Given the description of an element on the screen output the (x, y) to click on. 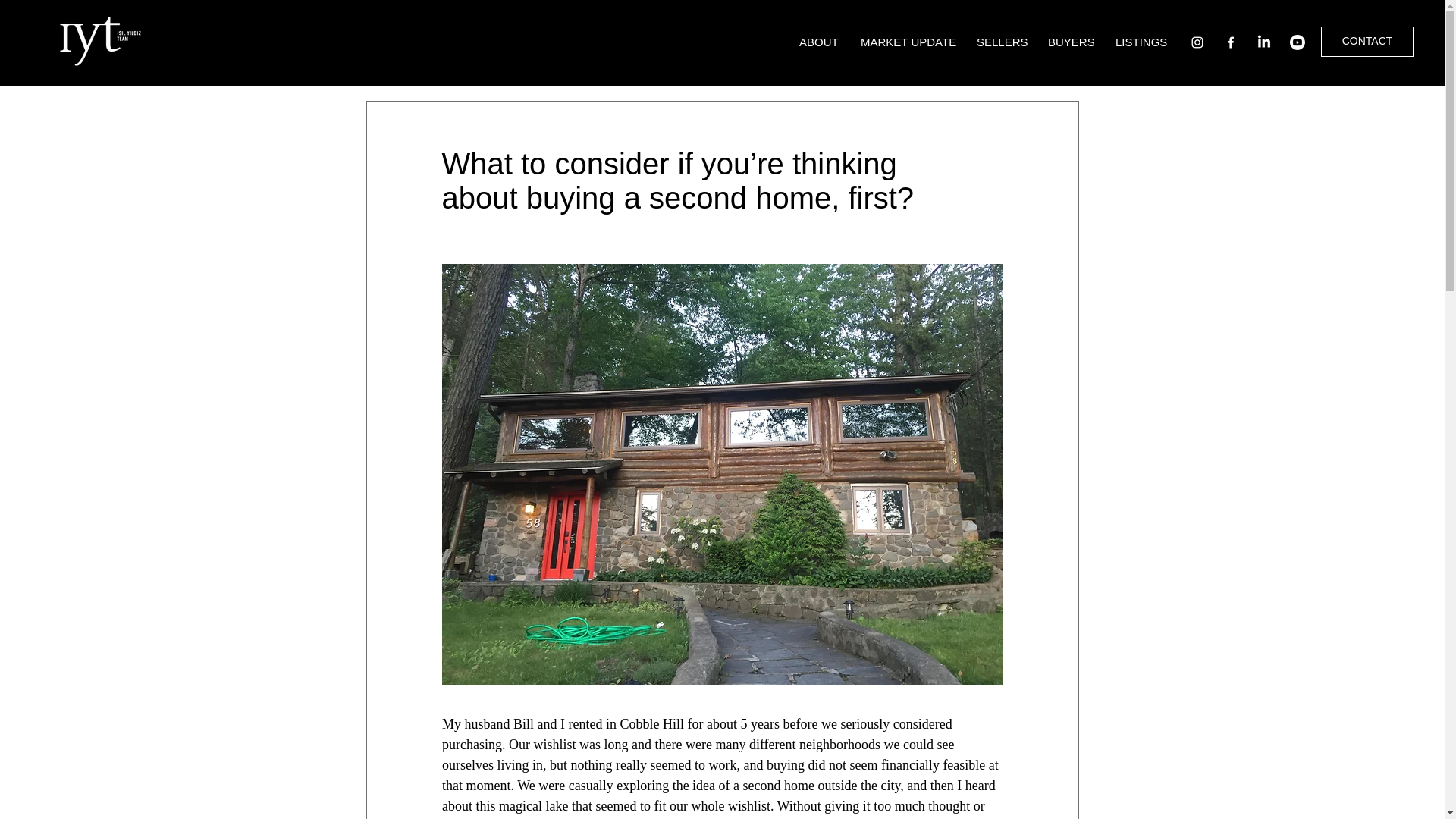
BUYERS (1069, 42)
MARKET UPDATE (906, 42)
CONTACT (1366, 41)
LISTINGS (1140, 42)
SELLERS (1000, 42)
ABOUT (817, 42)
